Given the description of an element on the screen output the (x, y) to click on. 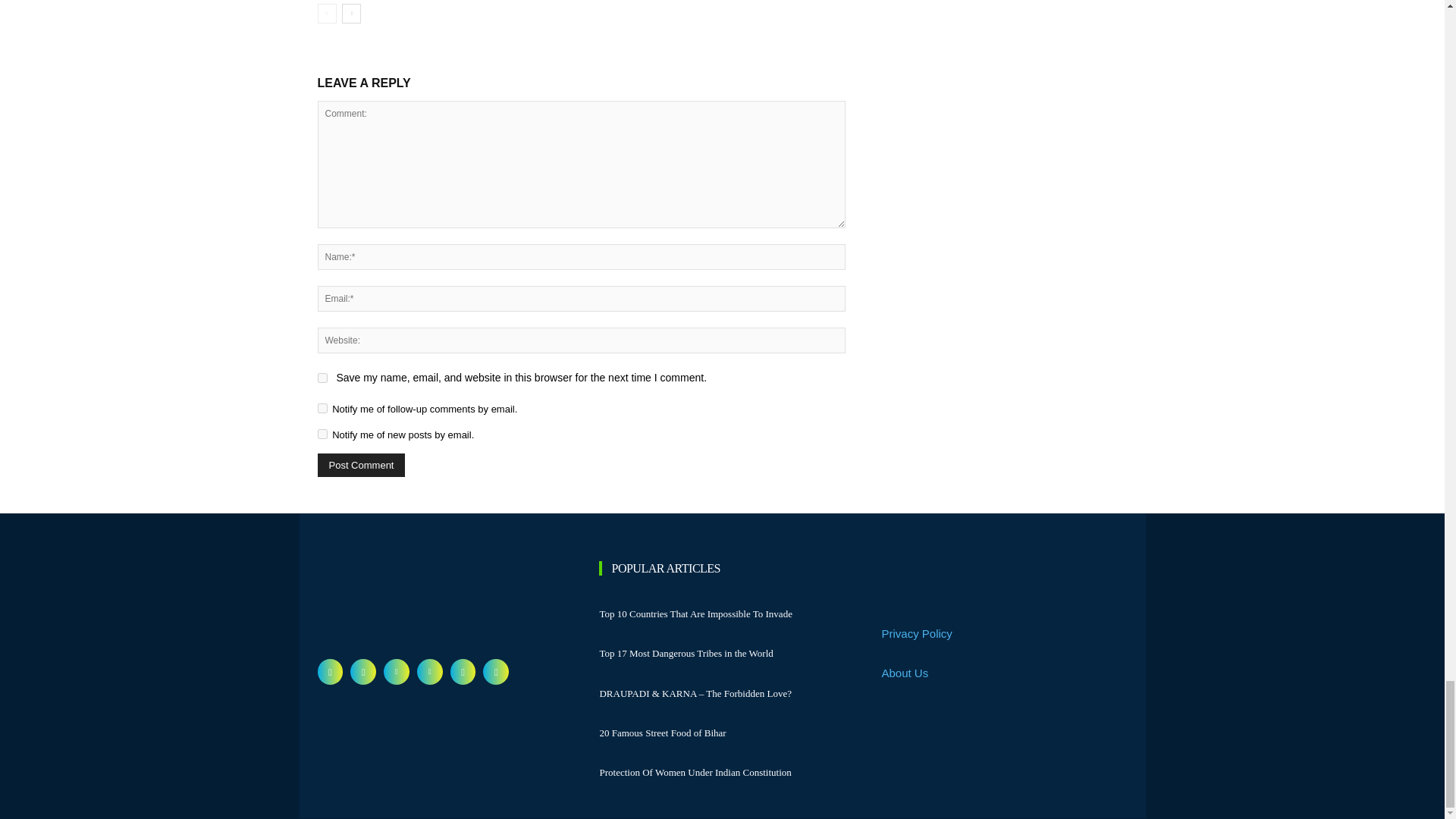
subscribe (321, 408)
subscribe (321, 433)
yes (321, 378)
Post Comment (360, 464)
